Given the description of an element on the screen output the (x, y) to click on. 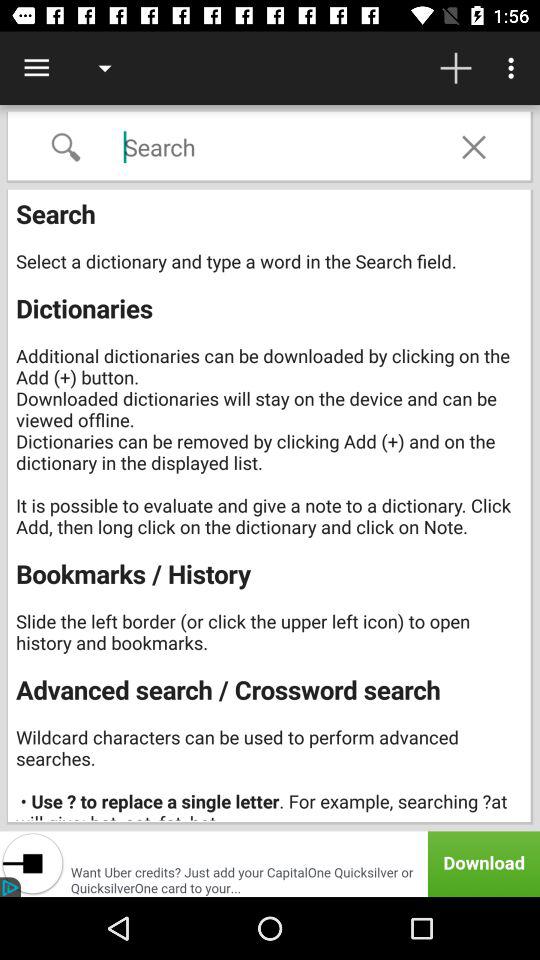
tap the icon at the center (271, 507)
